Given the description of an element on the screen output the (x, y) to click on. 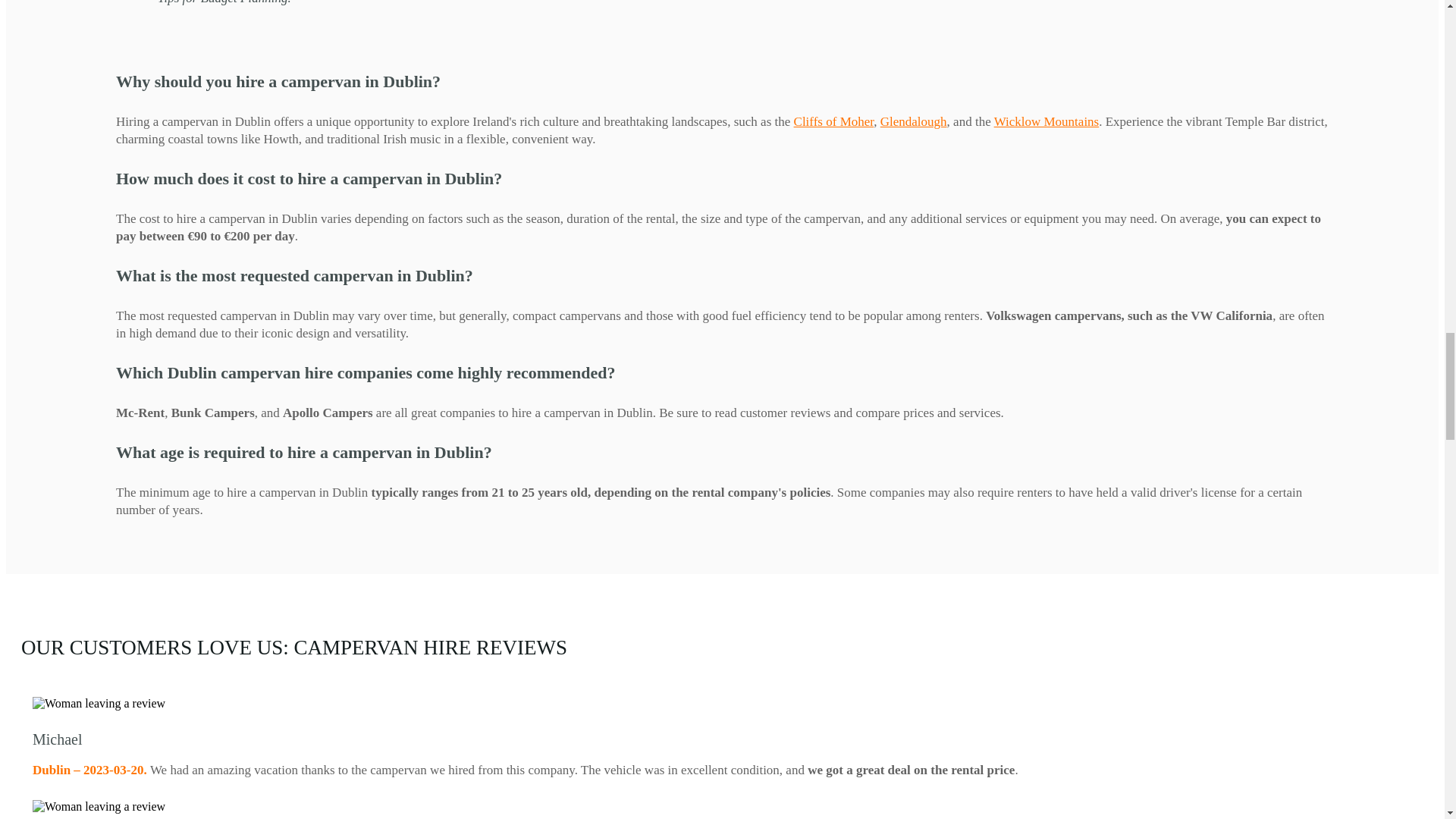
Wicklow Mountains (1046, 121)
Glendalough (913, 121)
Cliffs of Moher (834, 121)
